Given the description of an element on the screen output the (x, y) to click on. 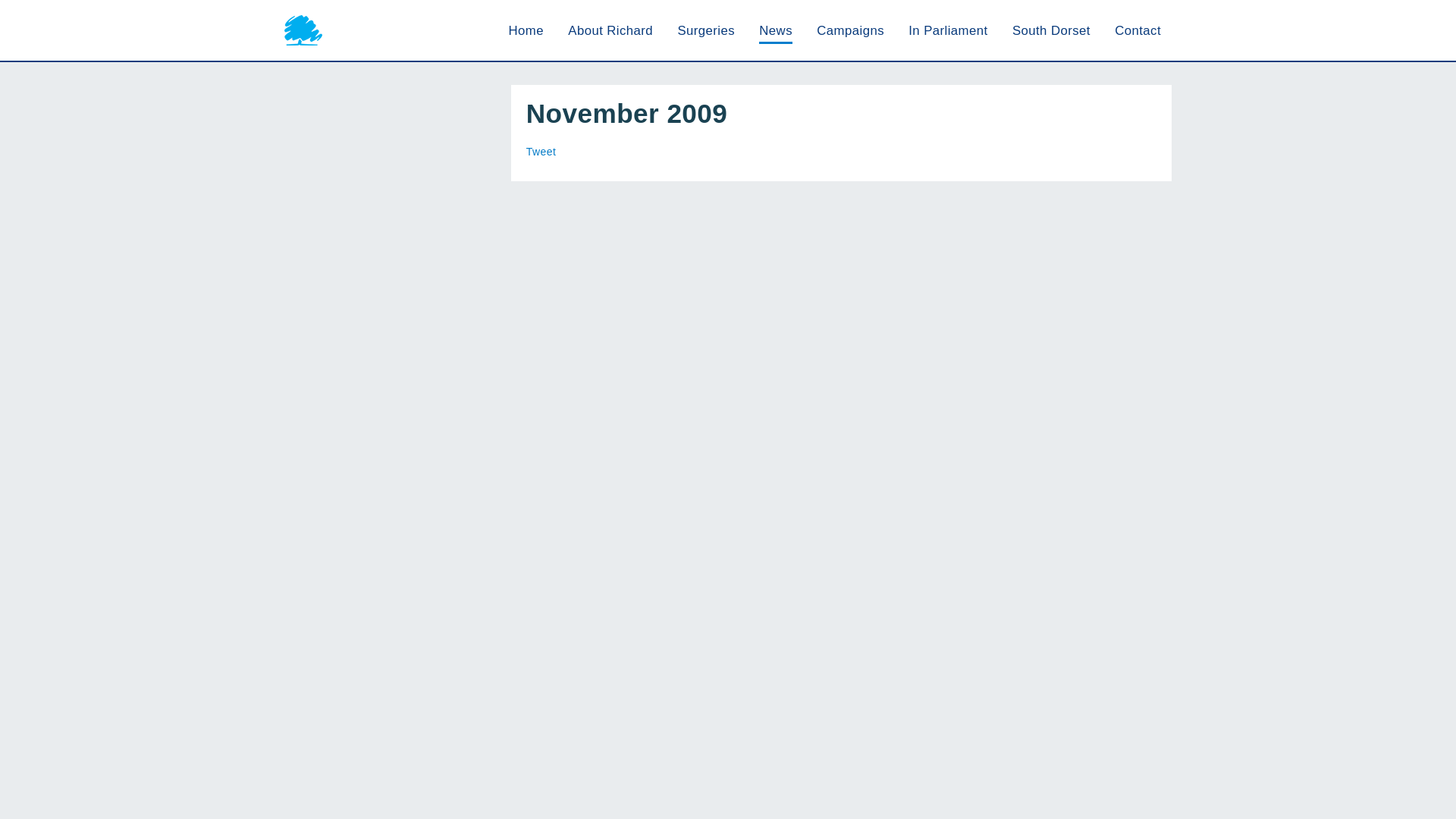
South Dorset (1050, 29)
Home (525, 29)
About Richard (609, 29)
News (775, 29)
Tweet (540, 151)
In Parliament (947, 29)
Surgeries (706, 29)
Contact (1137, 29)
Campaigns (849, 29)
